Given the description of an element on the screen output the (x, y) to click on. 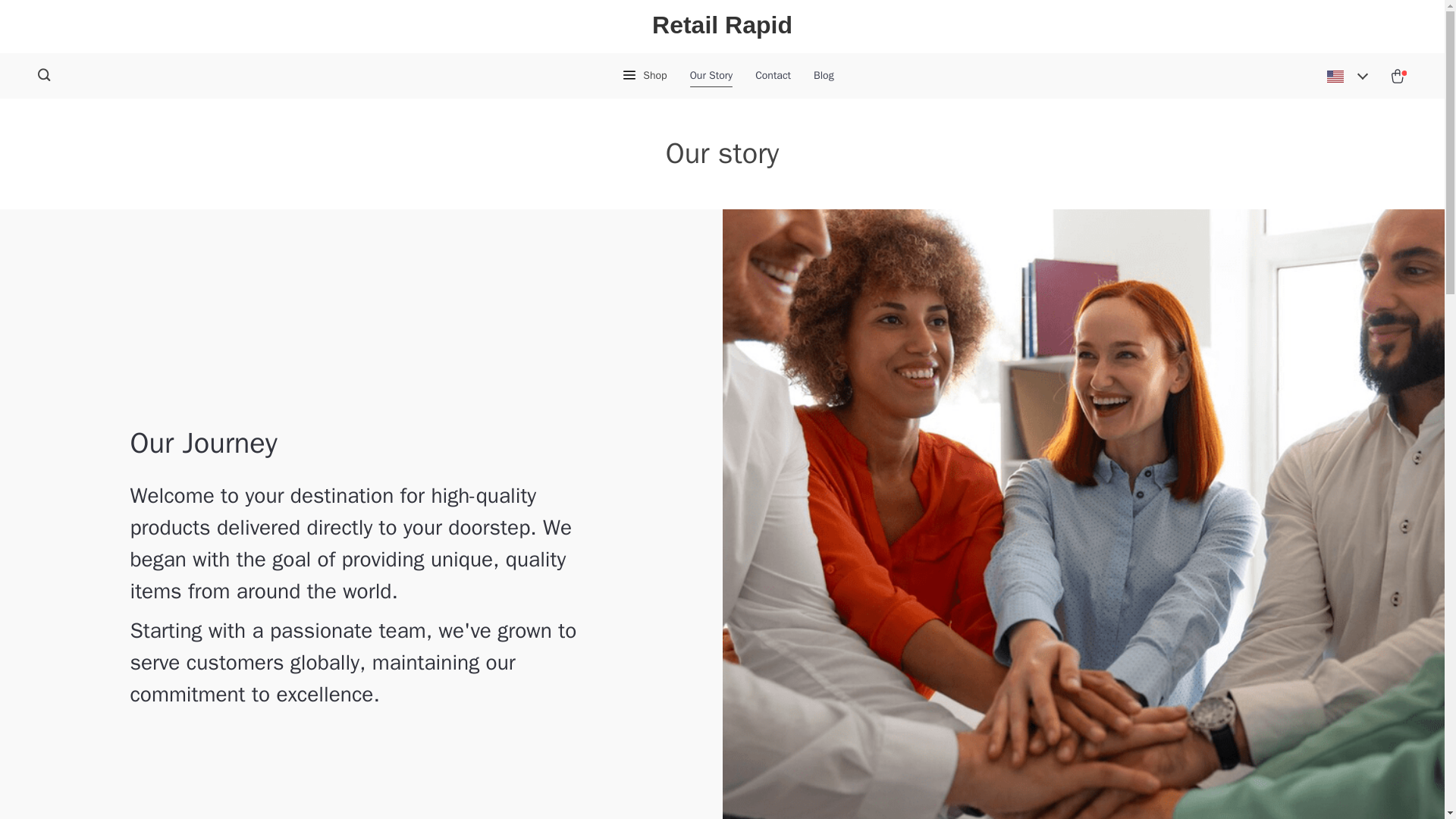
Retail Rapid (721, 26)
Contact (772, 75)
Our Story (711, 75)
